Given the description of an element on the screen output the (x, y) to click on. 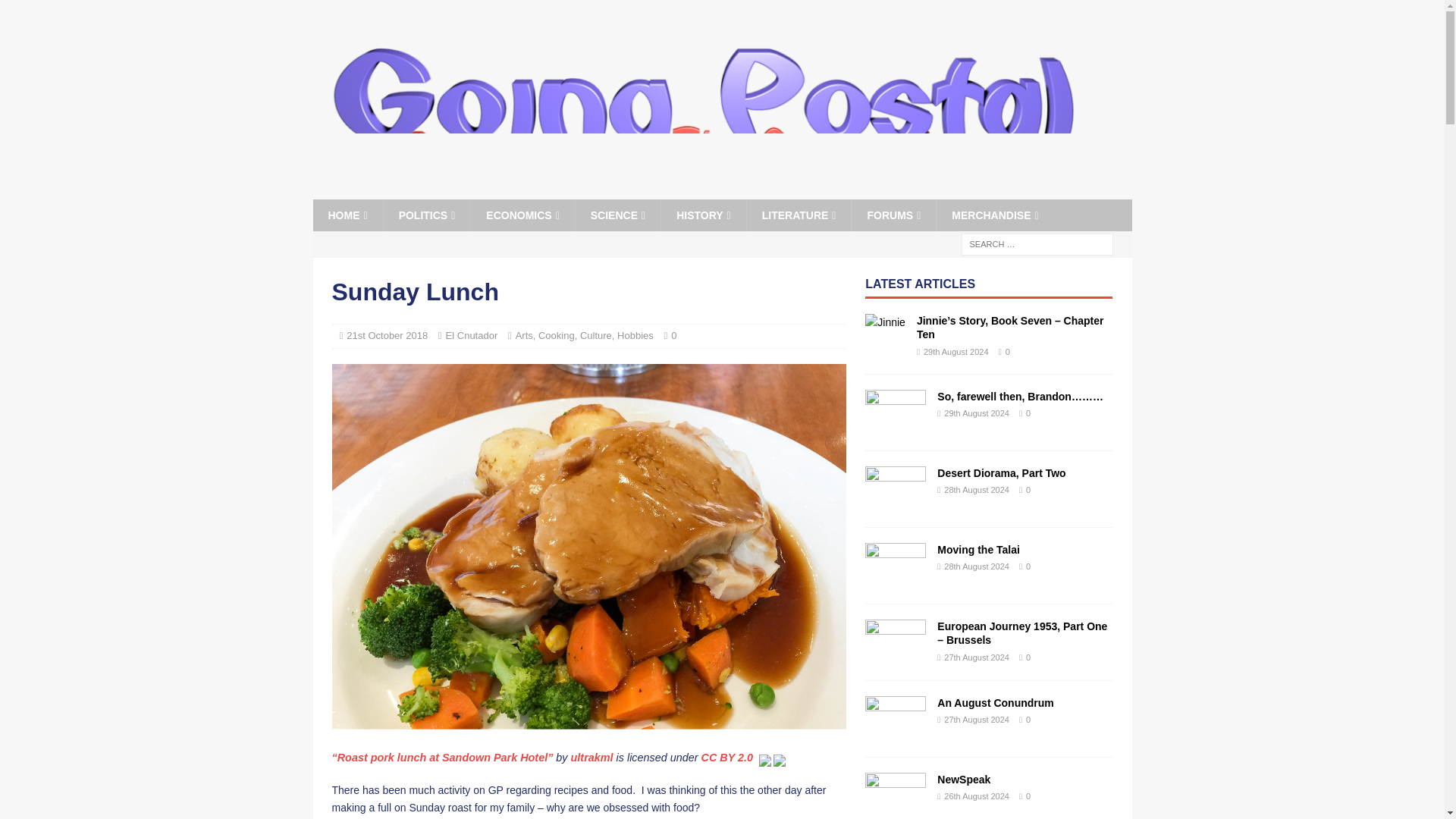
HOME (347, 214)
HISTORY (703, 214)
ECONOMICS (521, 214)
Going Postal (703, 191)
SCIENCE (618, 214)
LITERATURE (798, 214)
POLITICS (426, 214)
